Given the description of an element on the screen output the (x, y) to click on. 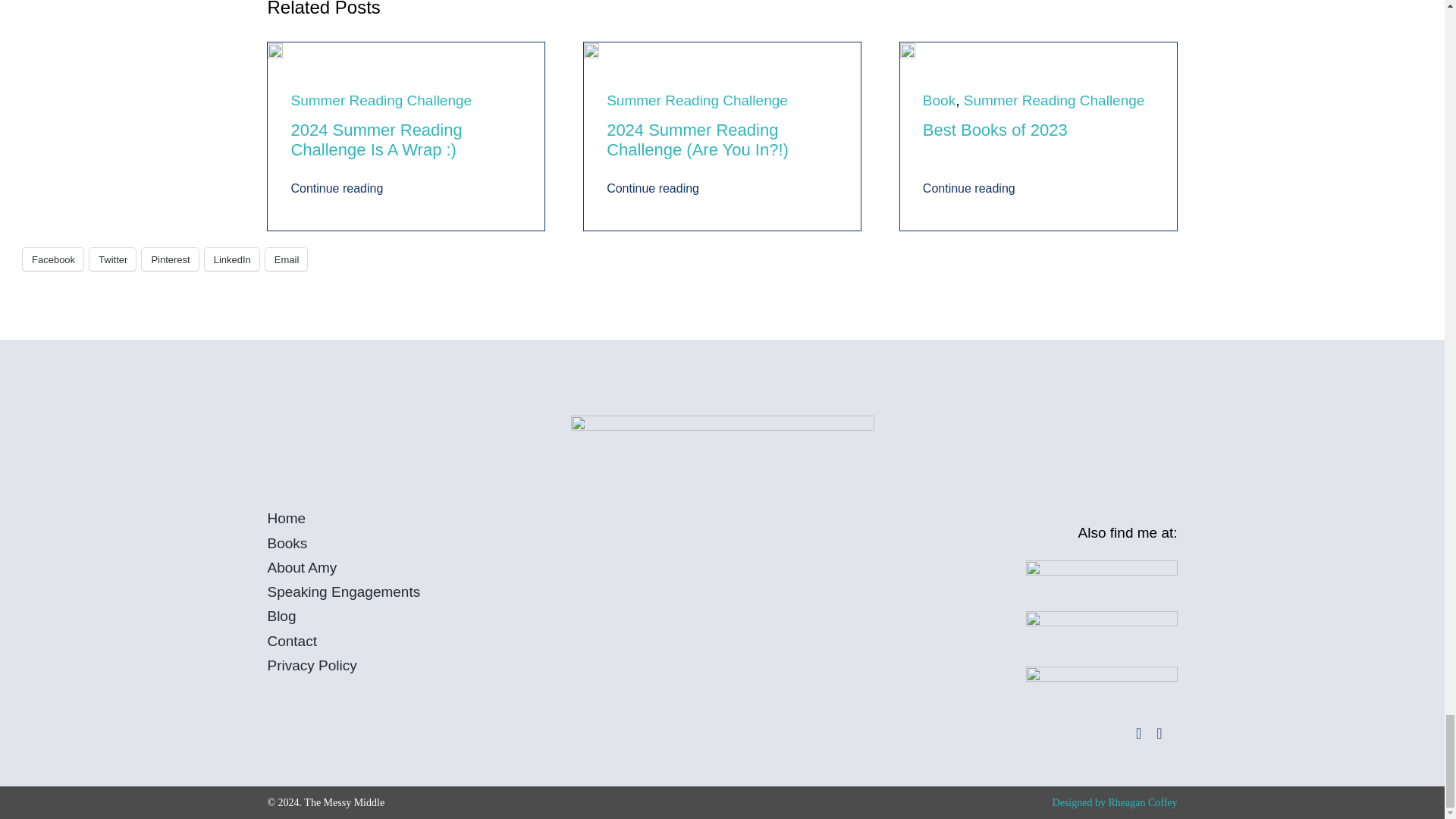
Click to share on LinkedIn (232, 259)
Click to share on Facebook (52, 259)
Click to share on Pinterest (169, 259)
Click to share on Twitter (111, 259)
Summer Reading Challenge (380, 100)
Book (939, 100)
Summer Reading Challenge (1053, 100)
Summer Reading Challenge (697, 100)
Click to email a link to a friend (285, 259)
